Given the description of an element on the screen output the (x, y) to click on. 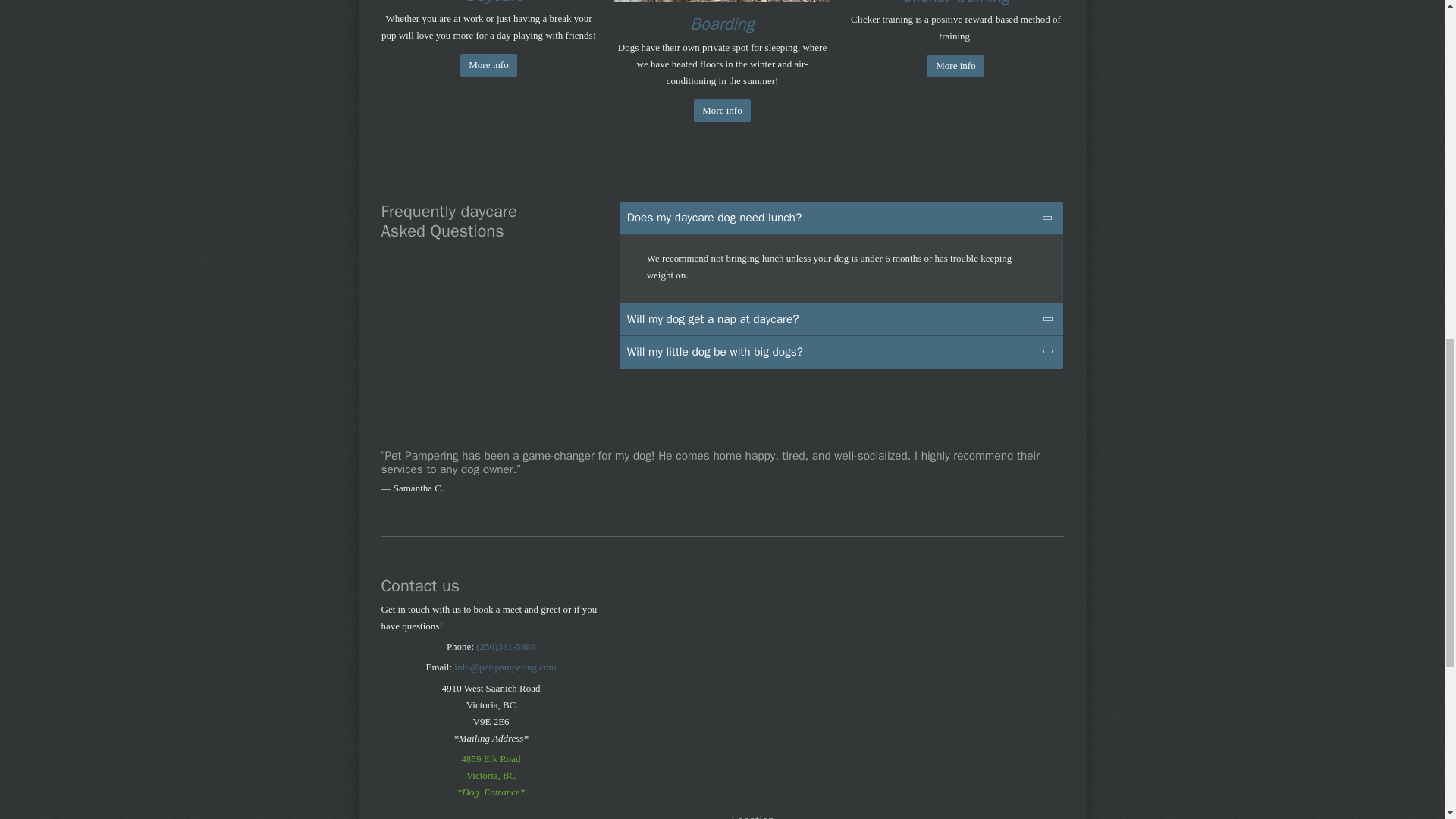
More info (956, 65)
More info (489, 65)
Questions? We have answers!! (956, 65)
Questions? We have answers!! (489, 65)
More info (722, 110)
Questions? We have answers!! (722, 110)
